Given the description of an element on the screen output the (x, y) to click on. 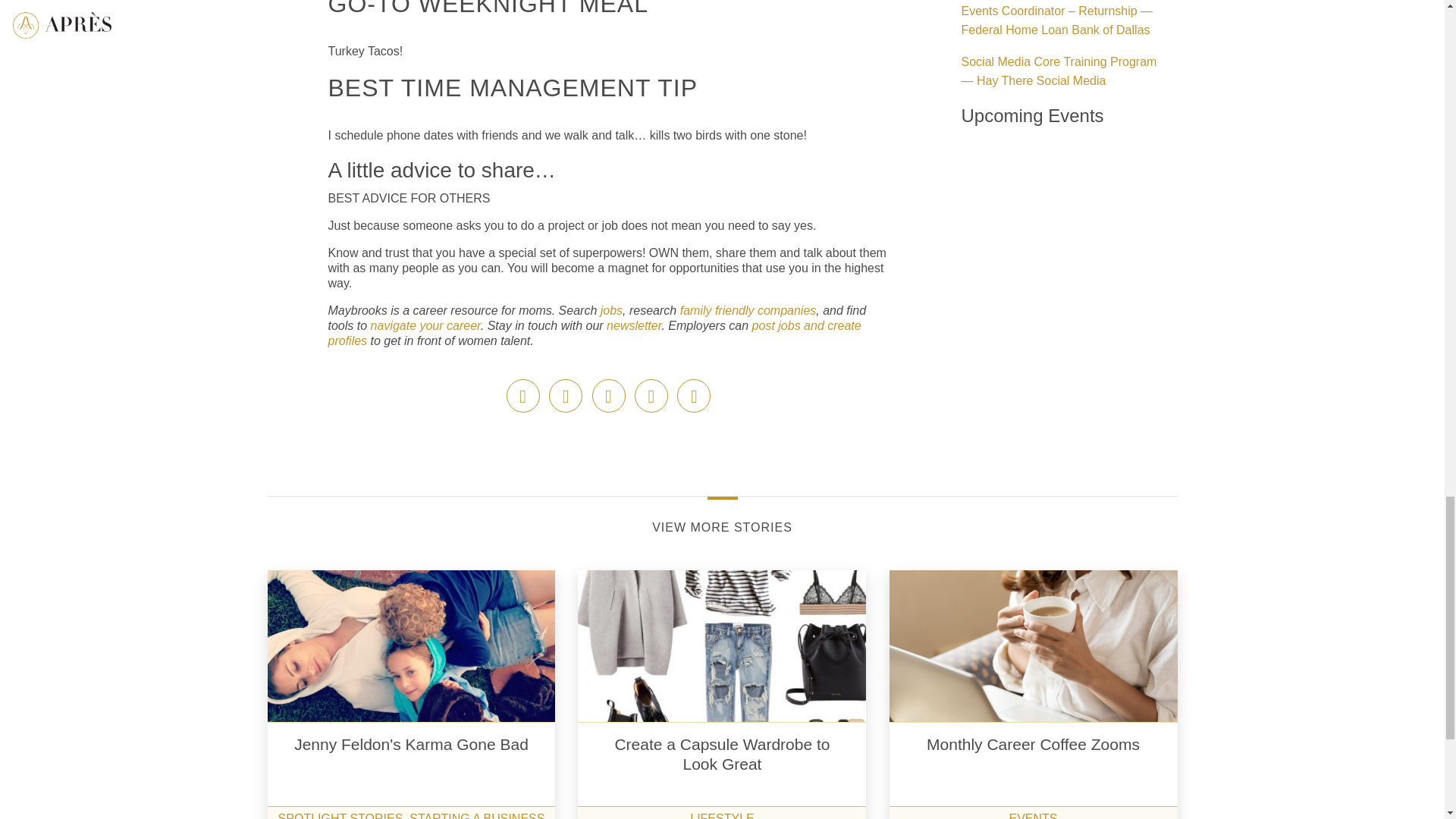
newsletter (634, 325)
family friendly companies (746, 309)
post jobs and create profiles (593, 333)
jobs (611, 309)
navigate your career (425, 325)
